Given the description of an element on the screen output the (x, y) to click on. 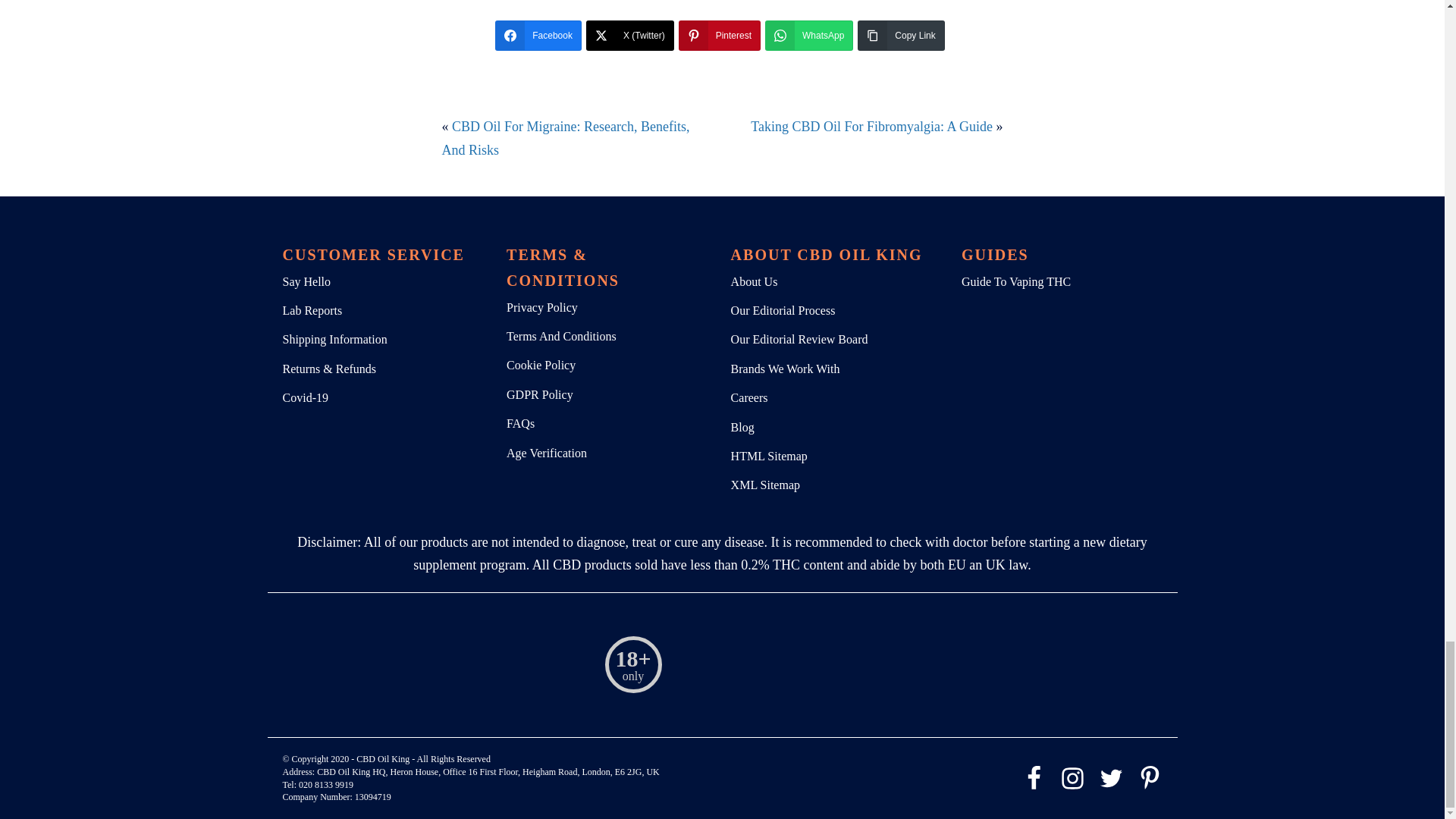
CBD Oil For Migraine: Research, Benefits, And Risks (564, 138)
Taking CBD Oil For Fibromyalgia: A Guide (871, 126)
WhatsApp (809, 35)
Copy Link (900, 35)
Facebook (537, 35)
Pinterest (719, 35)
